Given the description of an element on the screen output the (x, y) to click on. 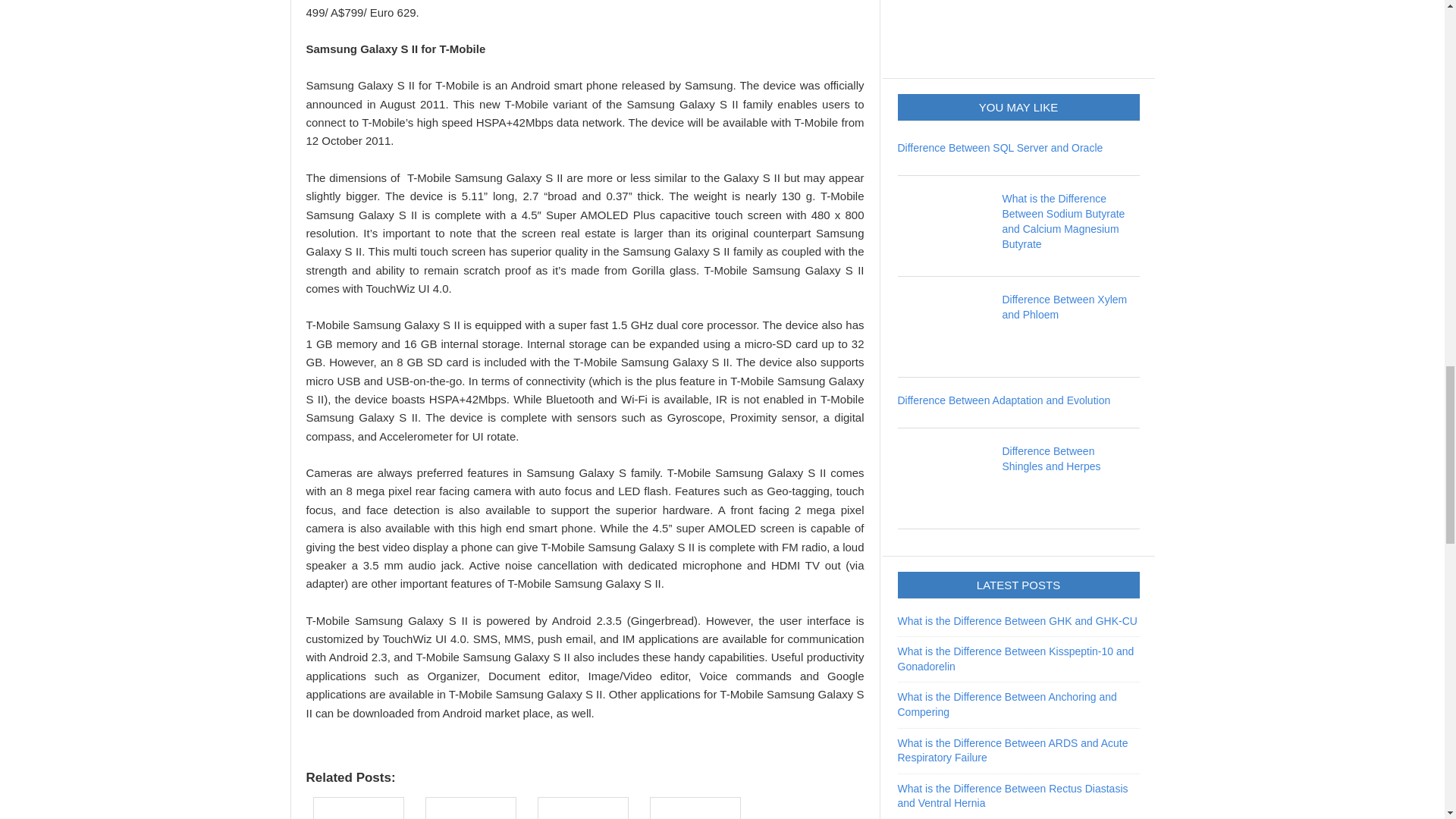
Difference Between iPhone 4 and 4S (474, 806)
Difference Between Apple iPhone 4 and iPhone 4S (587, 806)
Difference Between iPhone 4 and 4S (474, 806)
Difference Between iPhone 4S and Motorola Droid Bionic (361, 806)
Difference Between iPhone 4S and Motorola Droid Bionic (361, 806)
Difference Between Apple iPhone 4 and iPhone 4S (587, 806)
Advertisement (1011, 29)
